Given the description of an element on the screen output the (x, y) to click on. 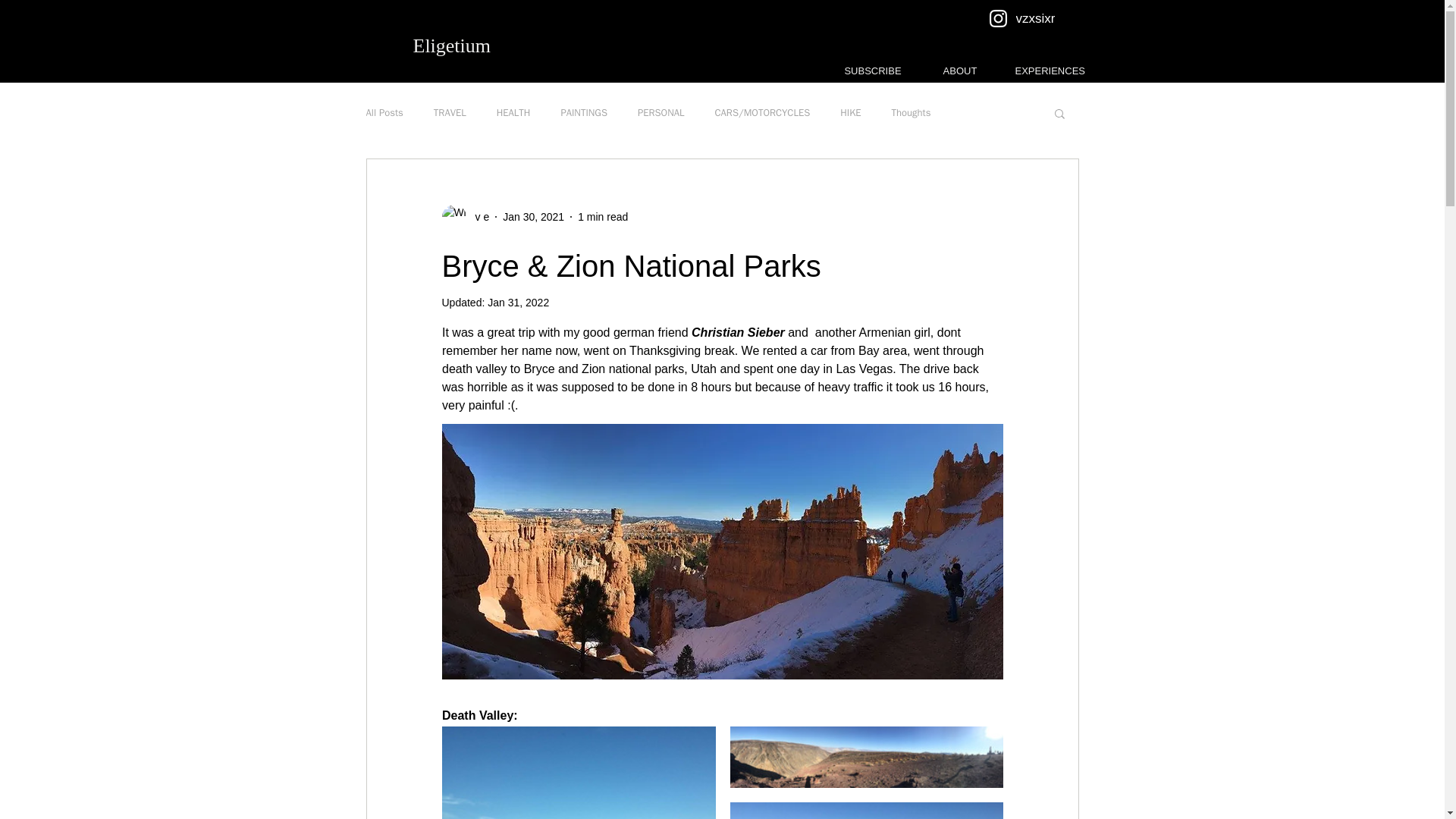
PERSONAL (660, 112)
PAINTINGS (583, 112)
HIKE (850, 112)
SUBSCRIBE (873, 70)
1 min read (602, 216)
Thoughts (911, 112)
vzxsixr (1035, 19)
TRAVEL (449, 112)
ABOUT (959, 70)
v e (465, 216)
Jan 30, 2021 (533, 216)
v e (477, 217)
Eligetium (451, 45)
All Posts (384, 112)
HEALTH (513, 112)
